Given the description of an element on the screen output the (x, y) to click on. 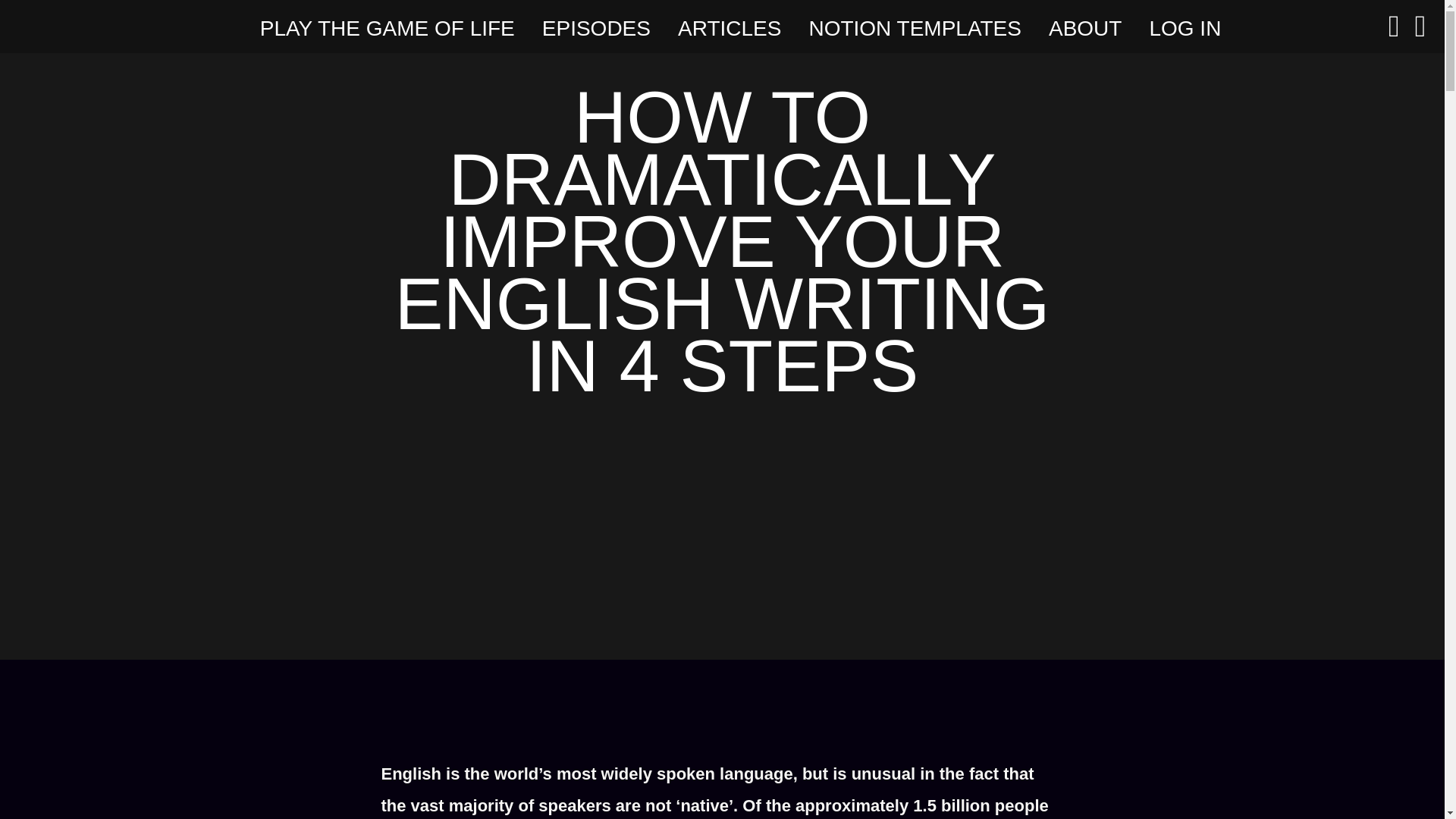
ABOUT (1084, 28)
EPISODES (595, 28)
NOTION TEMPLATES (915, 28)
Go! (25, 17)
PLAY THE GAME OF LIFE (387, 28)
LOG IN (1184, 28)
ARTICLES (729, 28)
